Given the description of an element on the screen output the (x, y) to click on. 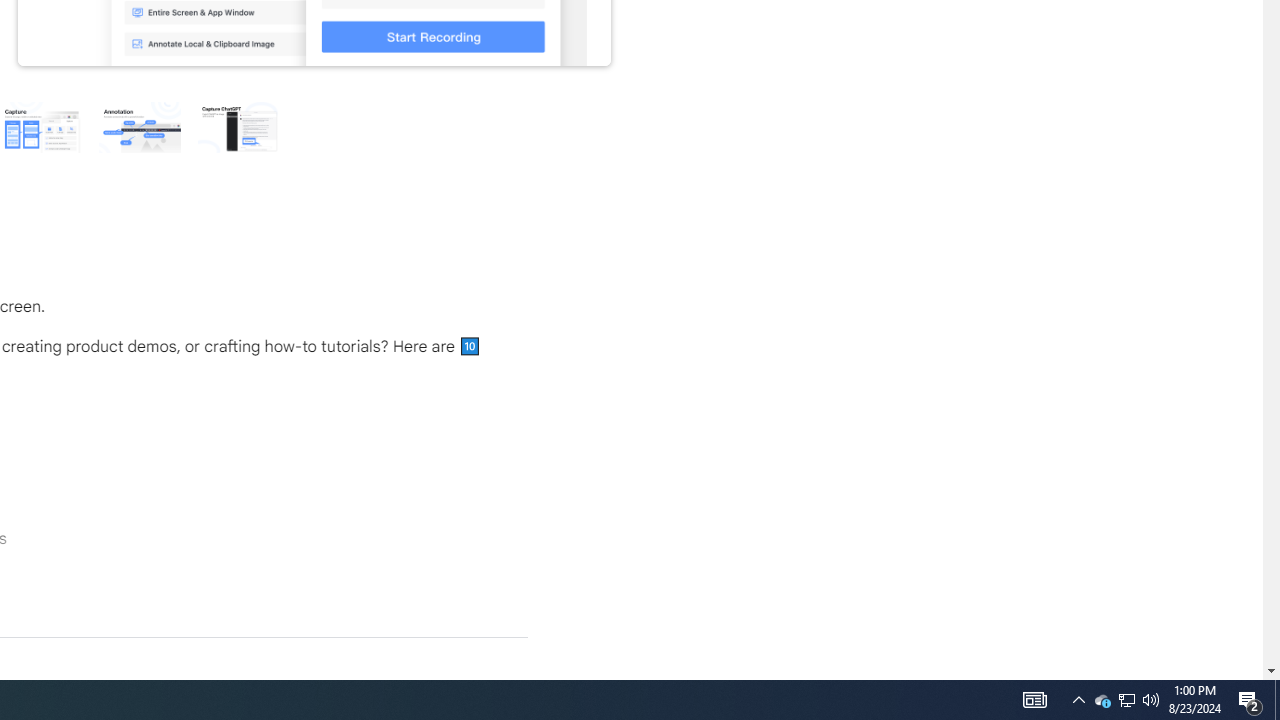
Q2790: 100% (1151, 699)
AutomationID: 4105 (1034, 699)
User Promoted Notification Area (1126, 699)
Preview slide 4 (1126, 699)
Preview slide 5 (40, 126)
Notification Chevron (139, 126)
Preview slide 6 (1078, 699)
Action Center, 2 new notifications (238, 126)
Show desktop (1102, 699)
